Given the description of an element on the screen output the (x, y) to click on. 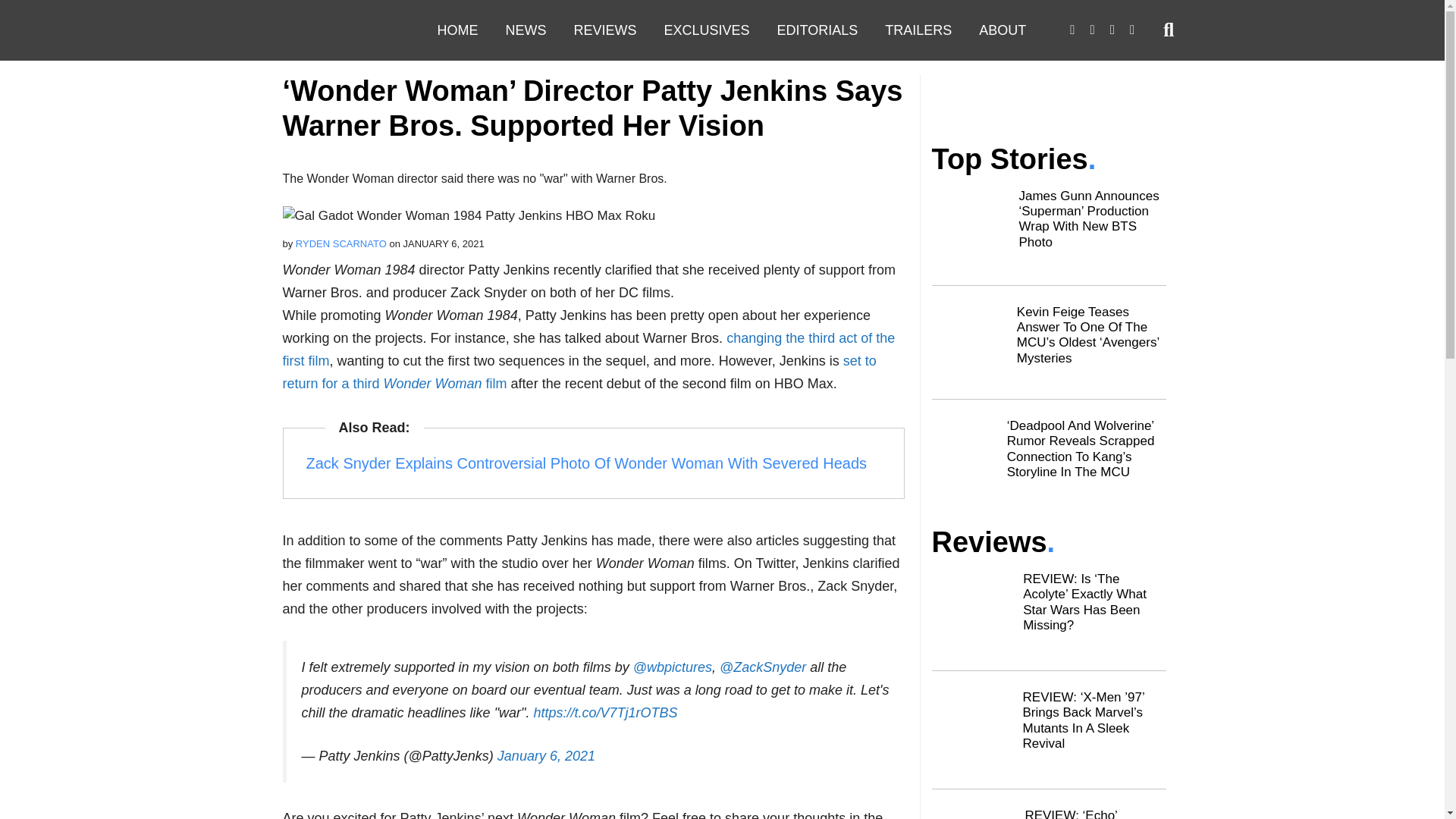
ABOUT (1002, 30)
TRAILERS (917, 30)
EXCLUSIVES (706, 30)
HOME (457, 30)
EDITORIALS (817, 30)
2021-01-06 (443, 243)
NEWS (525, 30)
REVIEWS (604, 30)
